Given the description of an element on the screen output the (x, y) to click on. 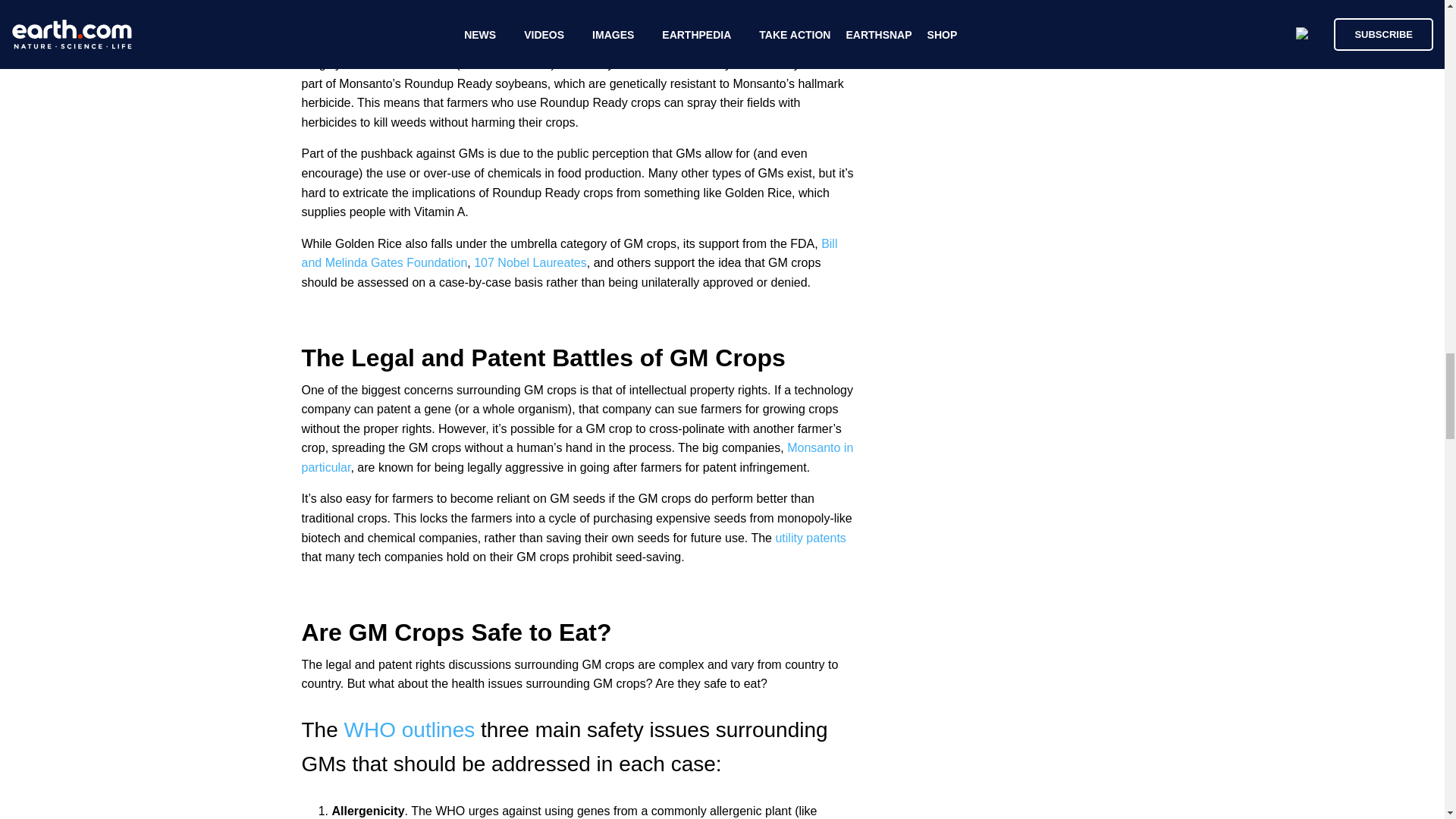
Bill and Melinda Gates Foundation (569, 253)
WHO outlines (409, 730)
107 Nobel Laureates (530, 262)
Monsanto in particular (577, 457)
182 million hectares (399, 63)
utility patents (808, 537)
